Given the description of an element on the screen output the (x, y) to click on. 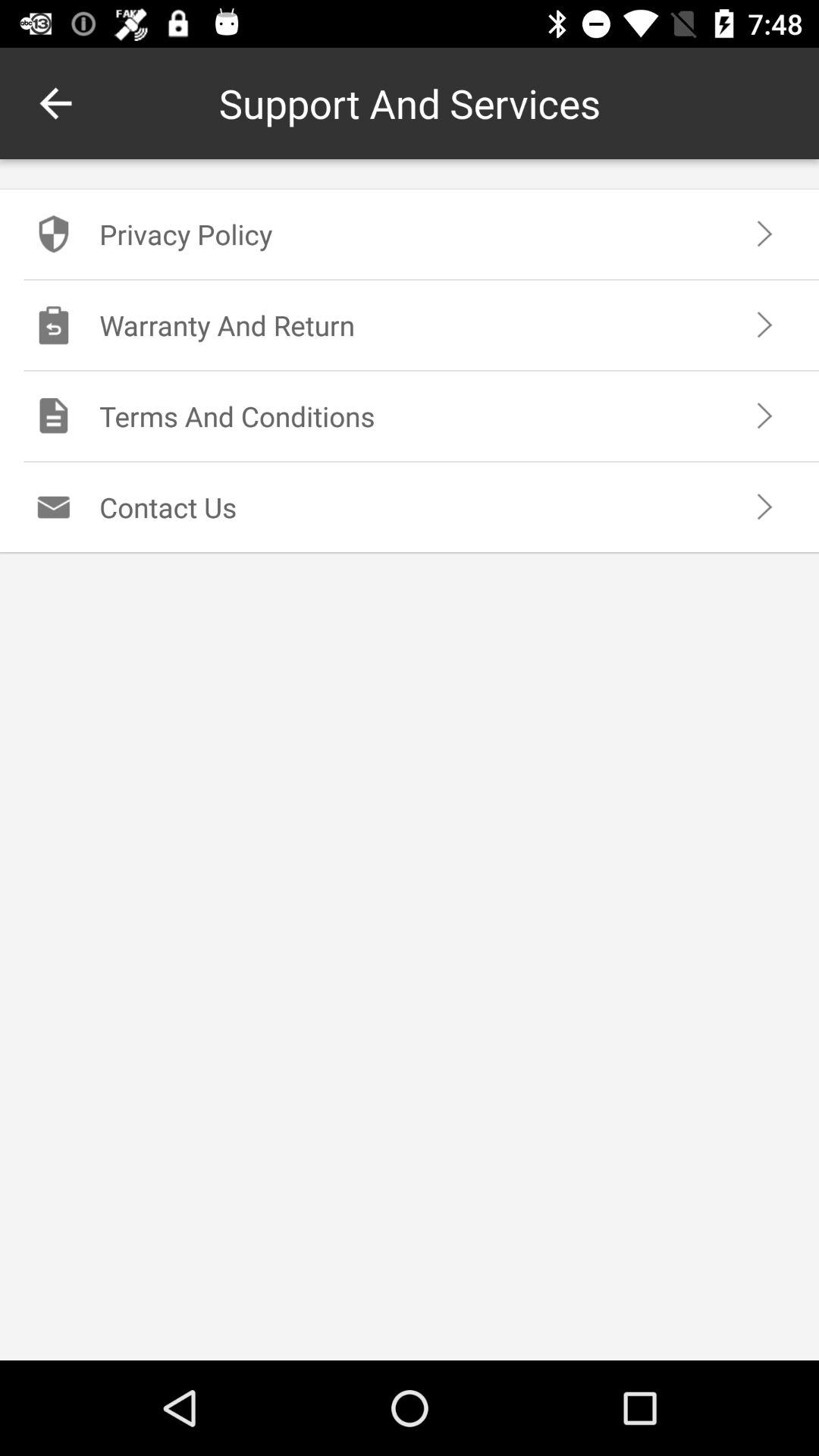
turn on icon next to support and services icon (55, 103)
